Given the description of an element on the screen output the (x, y) to click on. 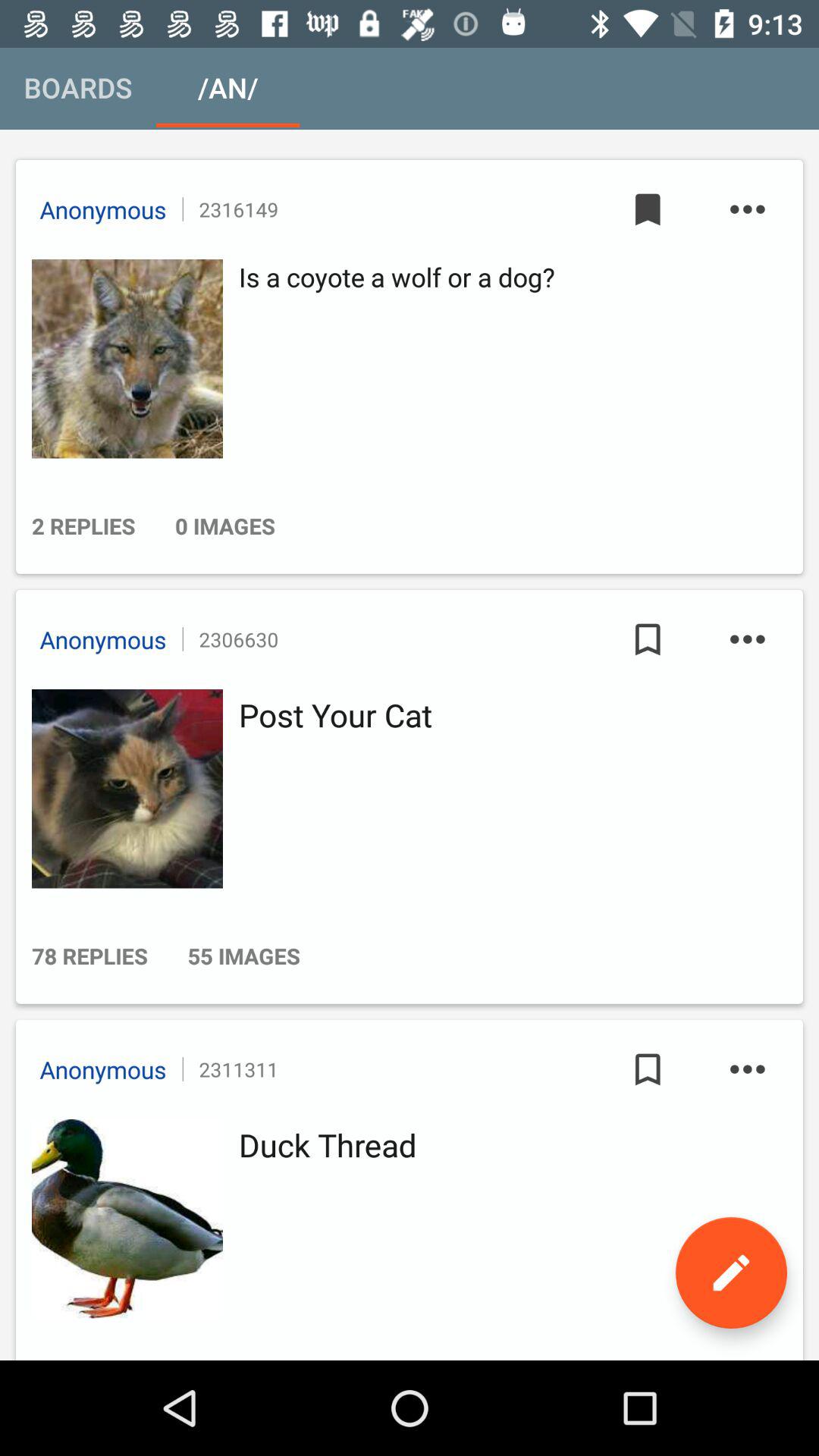
edit (731, 1272)
